Given the description of an element on the screen output the (x, y) to click on. 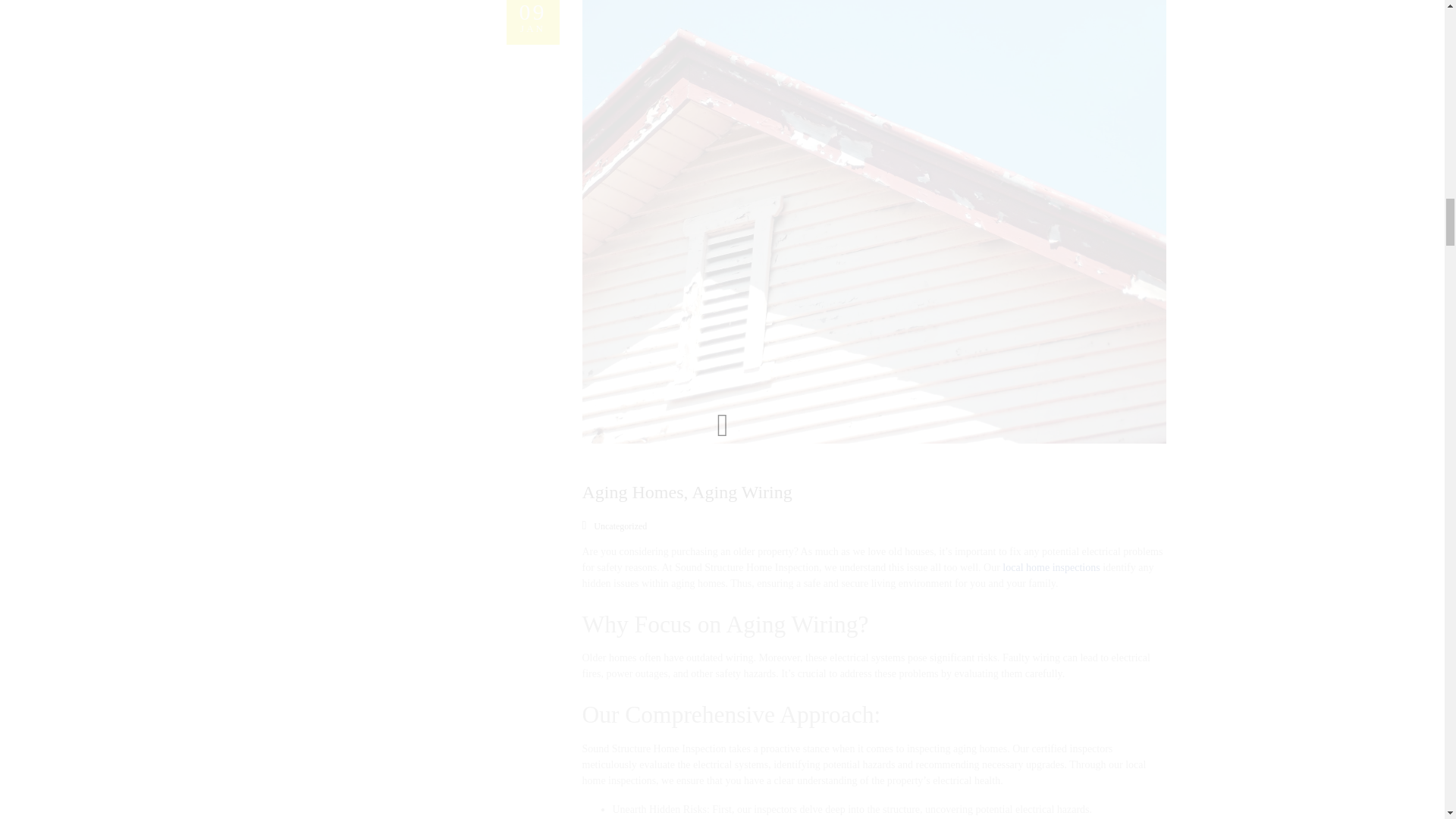
Aging Homes, Aging Wiring (687, 492)
local home inspections (532, 22)
Uncategorized (1050, 567)
